Given the description of an element on the screen output the (x, y) to click on. 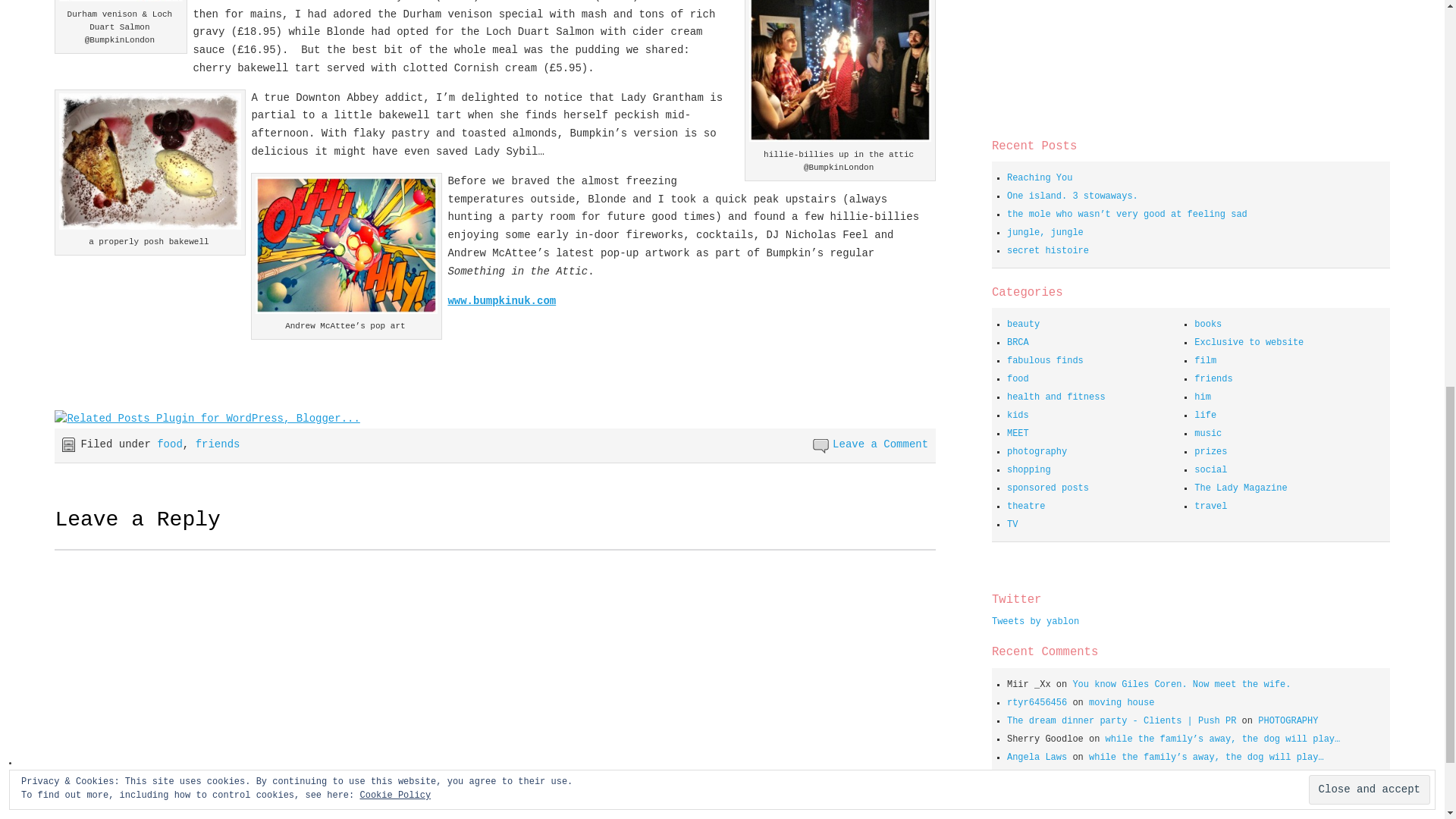
food (170, 444)
www.bumpkinuk.com (501, 300)
www.bumpkinuk.com (501, 300)
Reaching You (1039, 177)
One island. 3 stowaways. (1072, 195)
friends (217, 444)
Leave a Comment (880, 444)
